Given the description of an element on the screen output the (x, y) to click on. 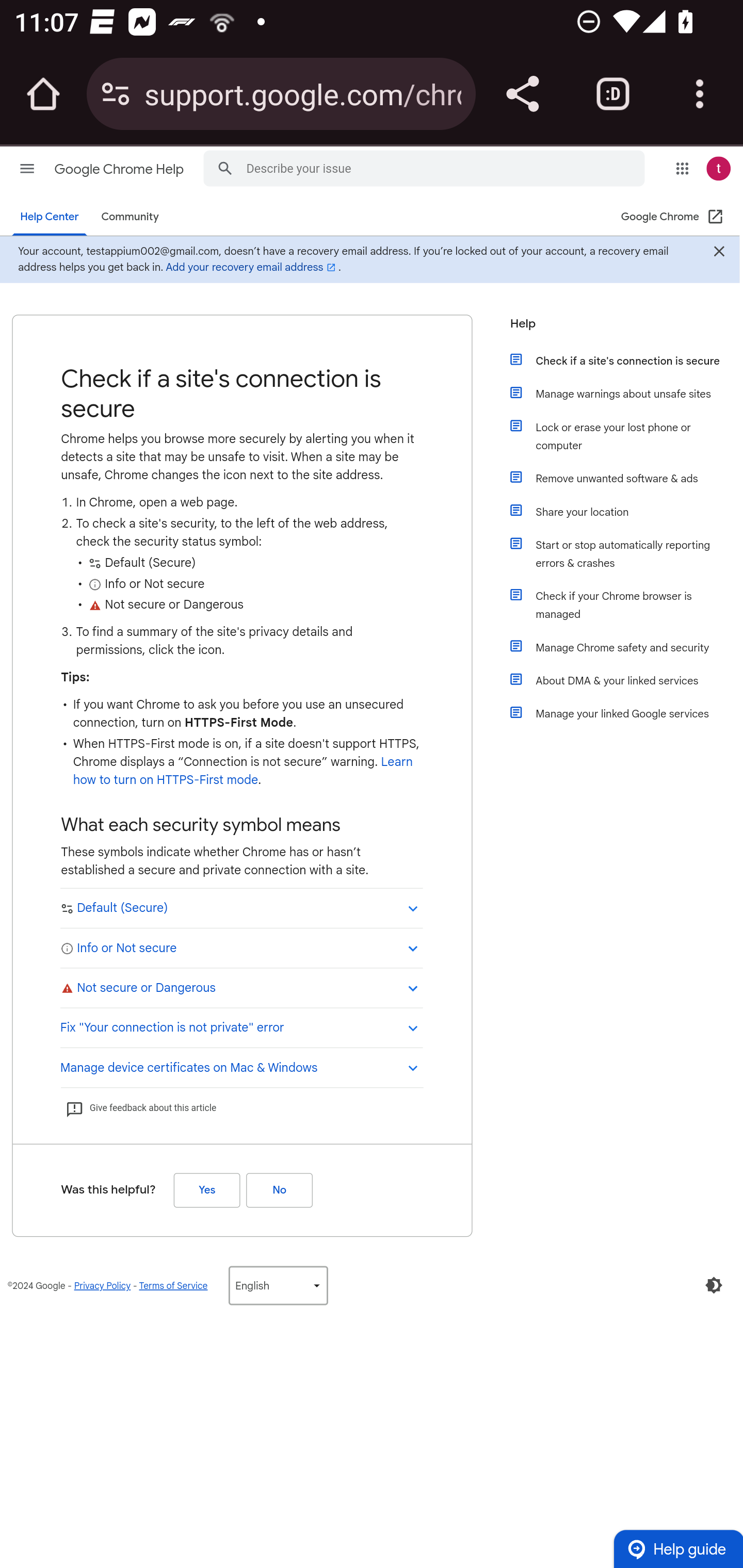
Open the home page (43, 93)
Connection is secure (115, 93)
Share (522, 93)
Switch or close tabs (612, 93)
Customize and control Google Chrome (699, 93)
Main menu (27, 168)
Google Chrome Help (120, 169)
Search Help Center (224, 167)
Google apps (681, 168)
Help Center (48, 217)
Community (129, 217)
Google Chrome (Open in a new window) Google Chrome (672, 217)
Close (718, 252)
Add your recovery email address (251, 267)
Help Help Help (618, 328)
Check if a site's connection is secure (626, 360)
Manage warnings about unsafe sites (626, 393)
Lock or erase your lost phone or computer (626, 436)
Remove unwanted software & ads (626, 477)
Share your location (626, 511)
Check if your Chrome browser is managed (626, 604)
Manage Chrome safety and security (626, 647)
About DMA & your linked services (626, 680)
Manage your linked Google services (626, 713)
Learn how to turn on HTTPS-First mode (242, 770)
Default (Secure) Default (Secure) (240, 907)
View site information Info or Not secure (240, 946)
Dangerous Not secure or Dangerous (240, 987)
Fix "Your connection is not private" error (240, 1026)
Manage device certificates on Mac & Windows (240, 1065)
Give feedback about this article (140, 1107)
Yes (Was this helpful?) (206, 1189)
No (Was this helpful?) (278, 1189)
Language (English‎) (277, 1284)
Enable Dark Mode (713, 1284)
Privacy Policy (101, 1285)
Terms of Service (173, 1285)
Help guide (677, 1548)
